Given the description of an element on the screen output the (x, y) to click on. 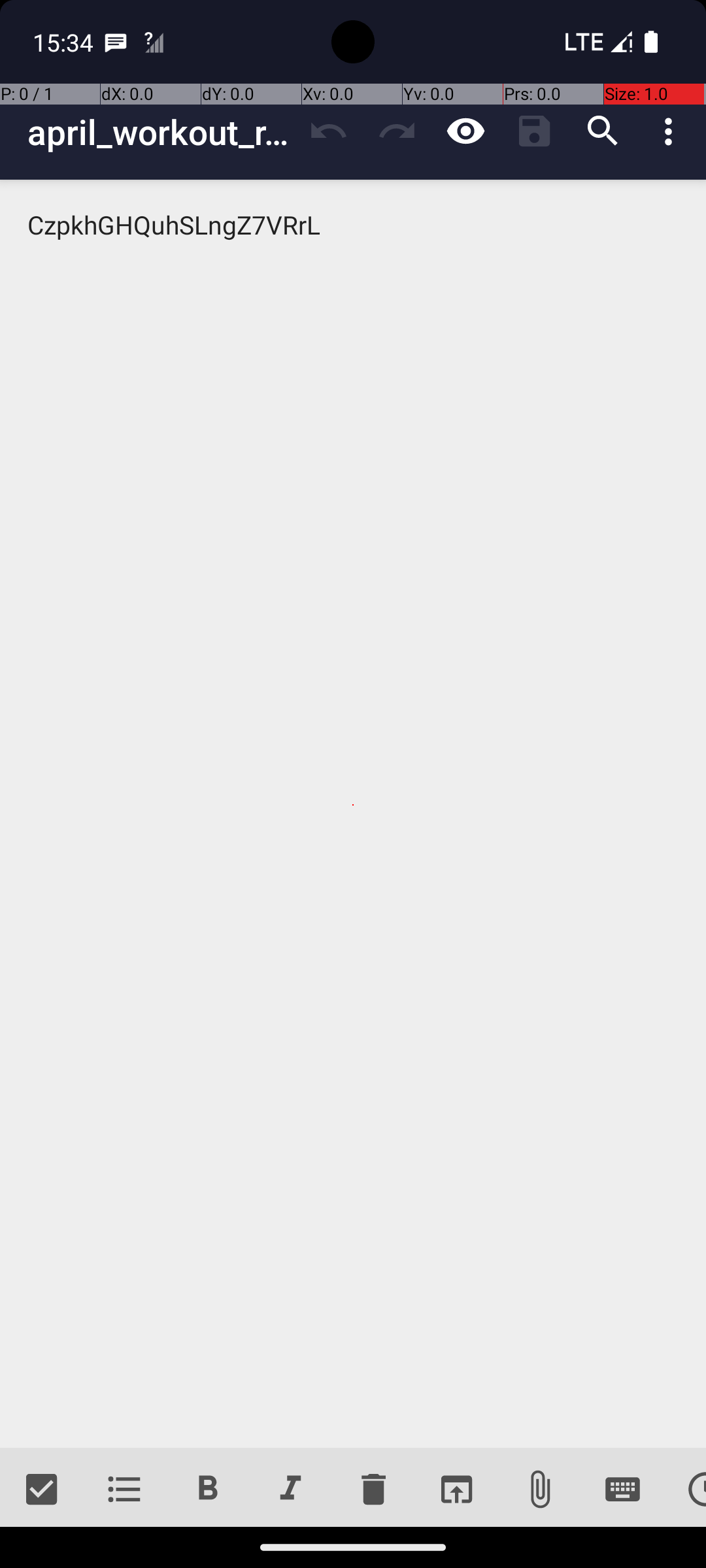
april_workout_routine_2023_01_01 Element type: android.widget.TextView (160, 131)
CzpkhGHQuhSLngZ7VRrL
 Element type: android.widget.EditText (353, 813)
